Given the description of an element on the screen output the (x, y) to click on. 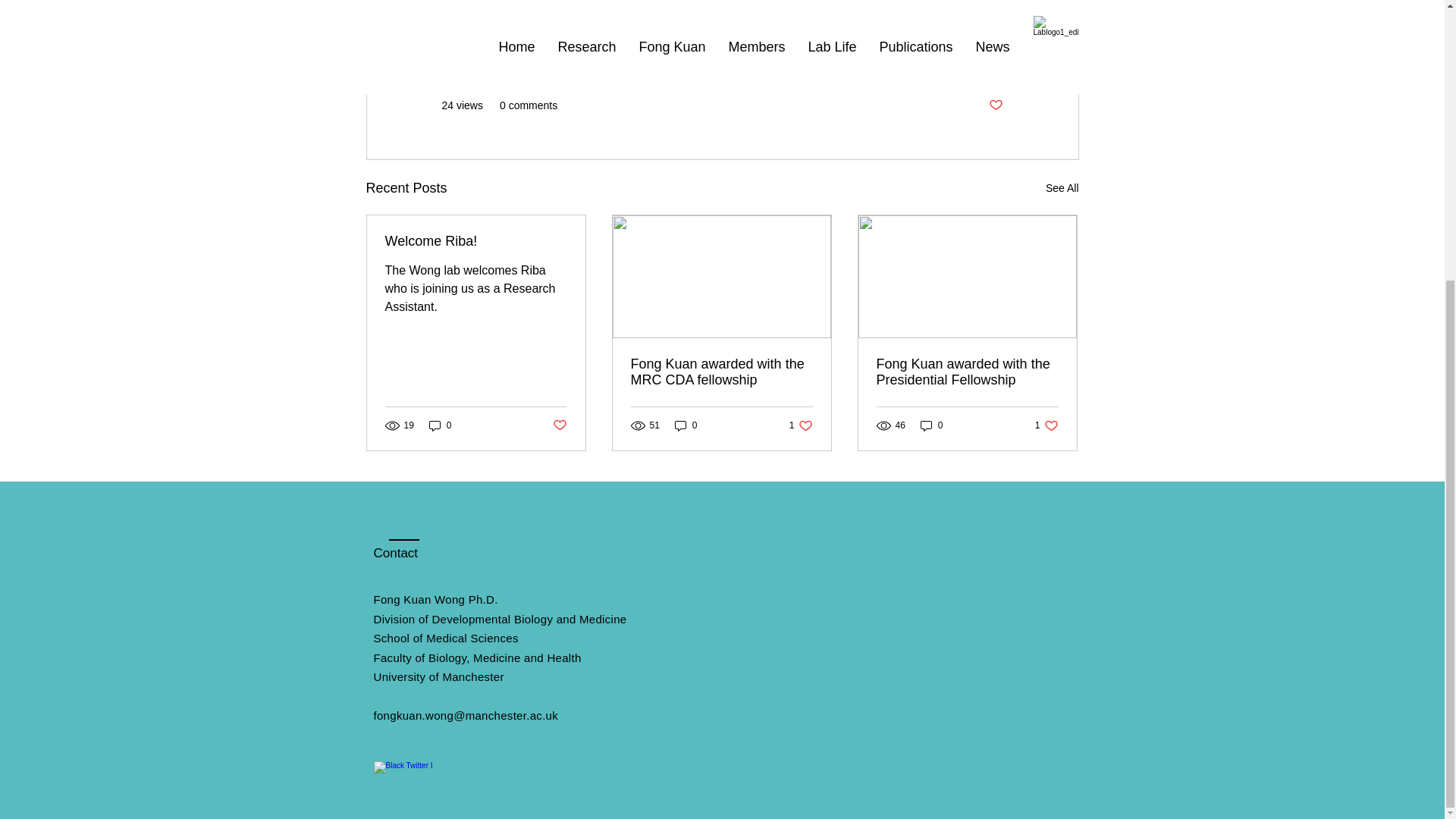
Post not marked as liked (995, 105)
Fong Kuan awarded with the Presidential Fellowship (967, 372)
Post not marked as liked (558, 425)
0 (931, 424)
Fong Kuan awarded with the MRC CDA fellowship (721, 372)
Opportunities (971, 60)
0 (685, 424)
Lab (914, 60)
Welcome Riba! (1046, 424)
